Given the description of an element on the screen output the (x, y) to click on. 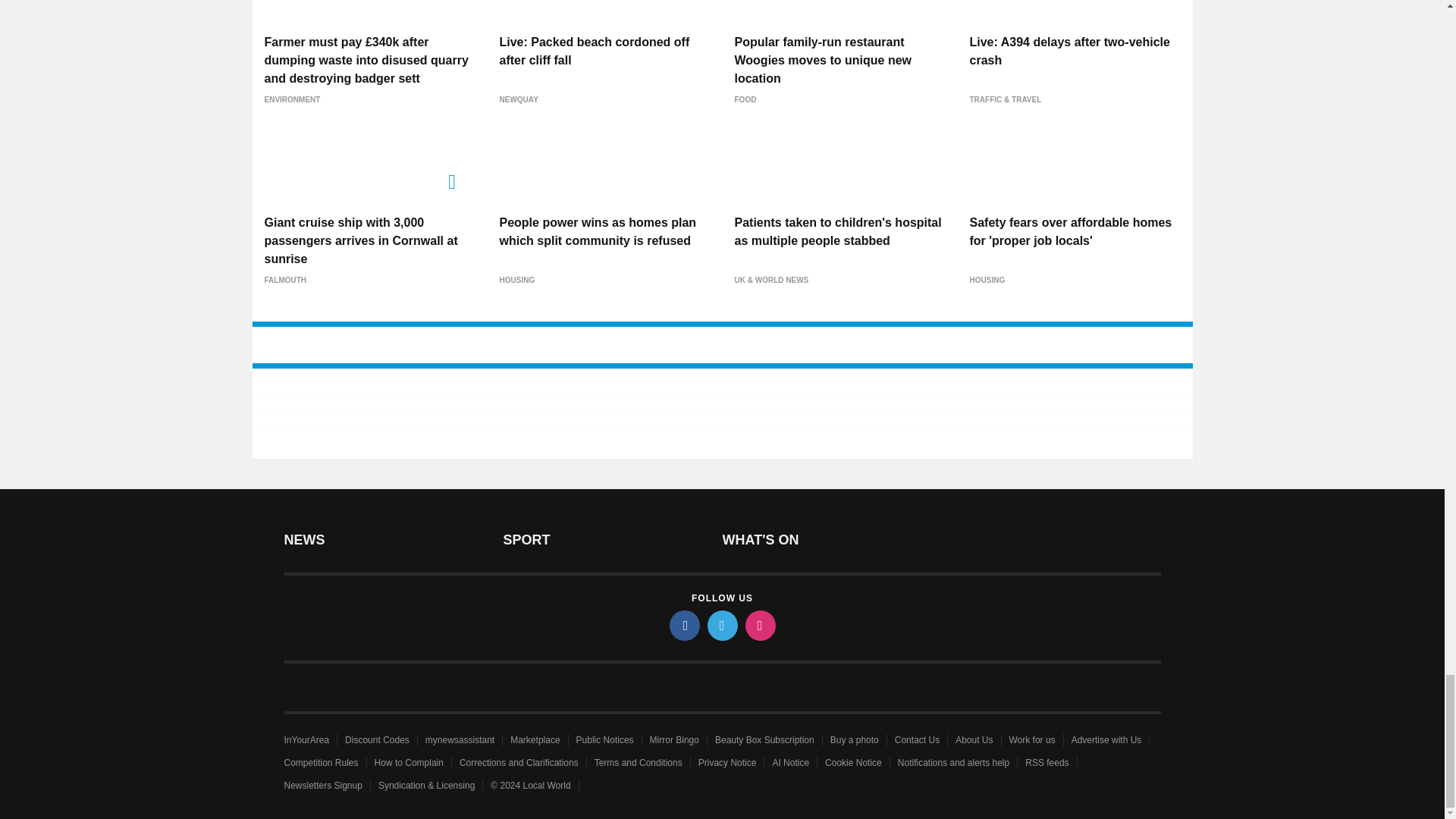
instagram (759, 625)
facebook (683, 625)
twitter (721, 625)
